Given the description of an element on the screen output the (x, y) to click on. 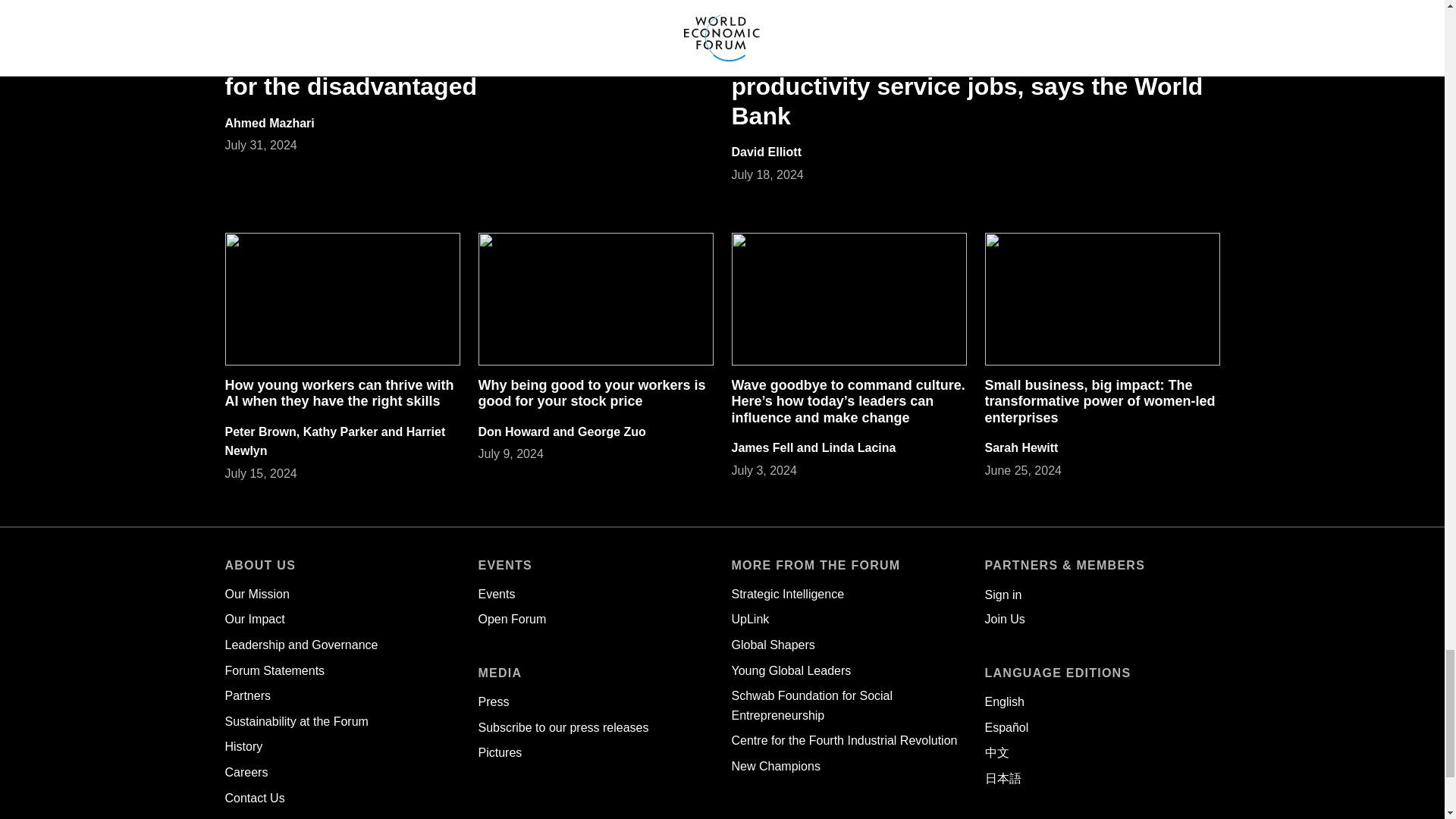
Our Mission (256, 594)
Forum Statements (274, 670)
How AI can unlock the digital economy for the disadvantaged (449, 71)
Why being good to your workers is good for your stock price (590, 393)
Our Impact (253, 618)
Leadership and Governance (300, 644)
Partners (246, 695)
